Given the description of an element on the screen output the (x, y) to click on. 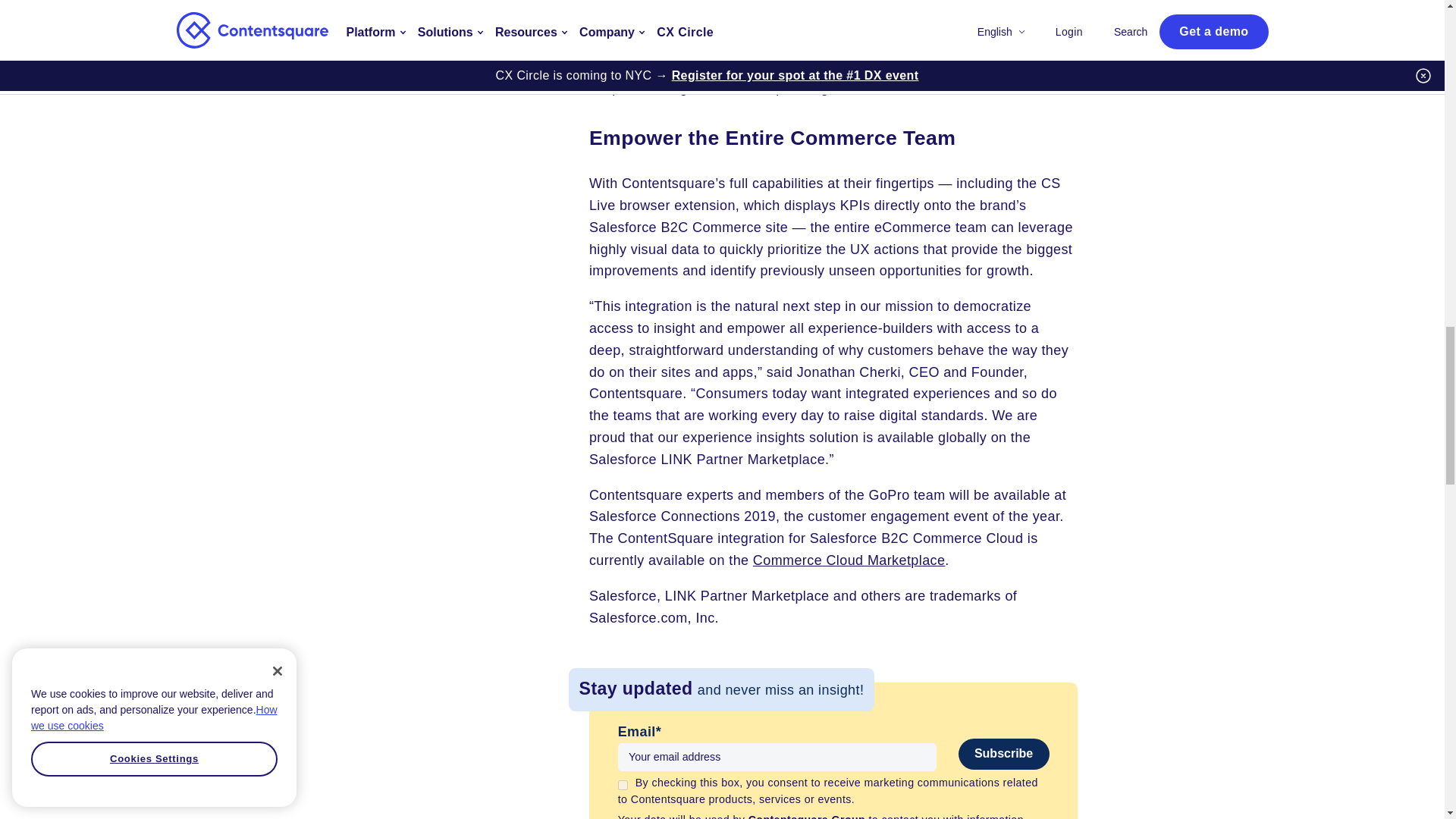
Subscribe (1003, 753)
true (622, 785)
